Given the description of an element on the screen output the (x, y) to click on. 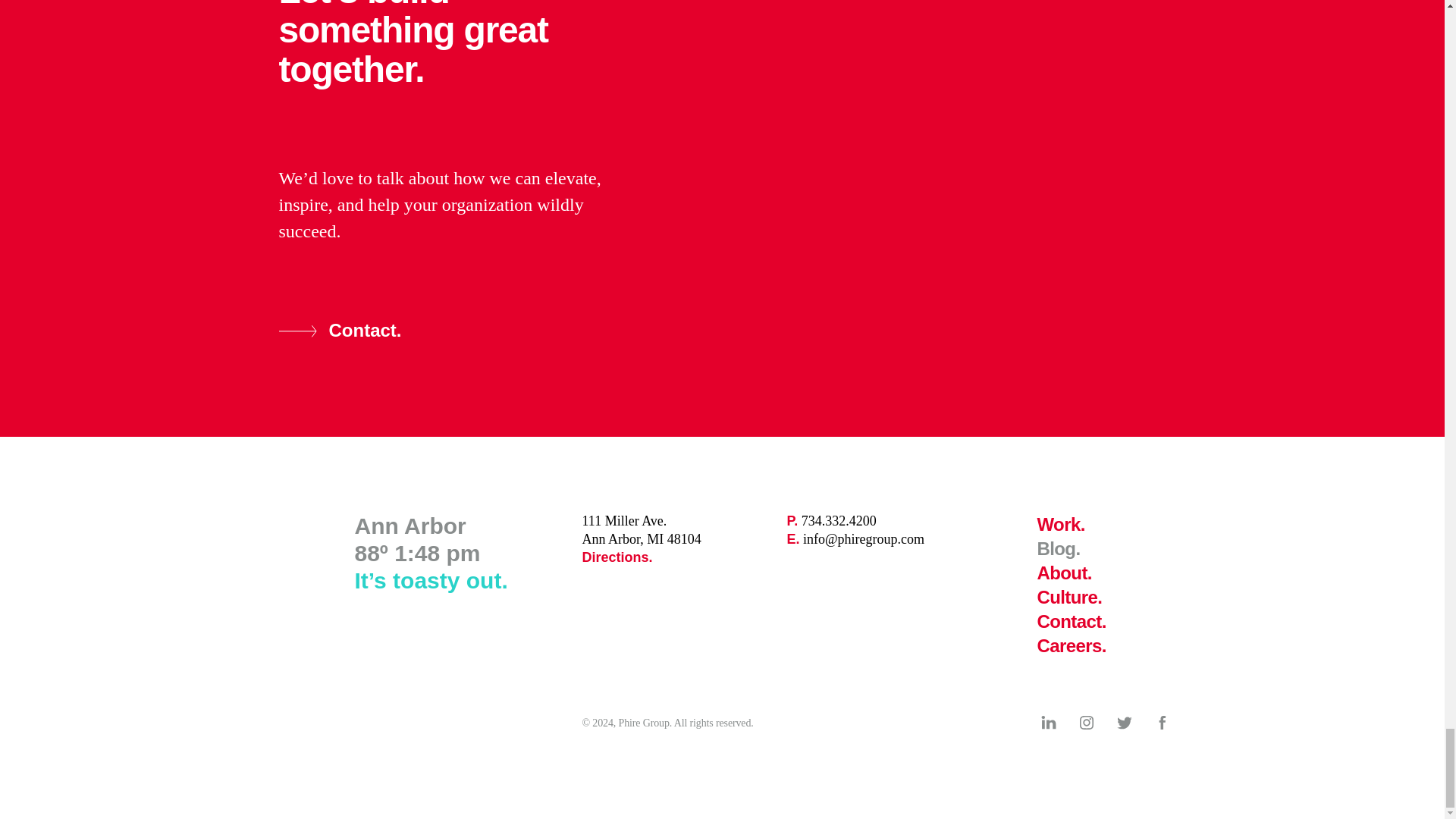
Phire Group on LinkedIn (1047, 722)
Work (1060, 524)
Culture (1069, 597)
Blog (831, 520)
Phire Group on Twitter (1058, 548)
Phire Group on Instagram (1124, 722)
Directions. (1086, 722)
Contact (617, 557)
Careers (1071, 620)
Phire Group on Facebook (1071, 645)
About (1162, 722)
Contact (1064, 572)
